Given the description of an element on the screen output the (x, y) to click on. 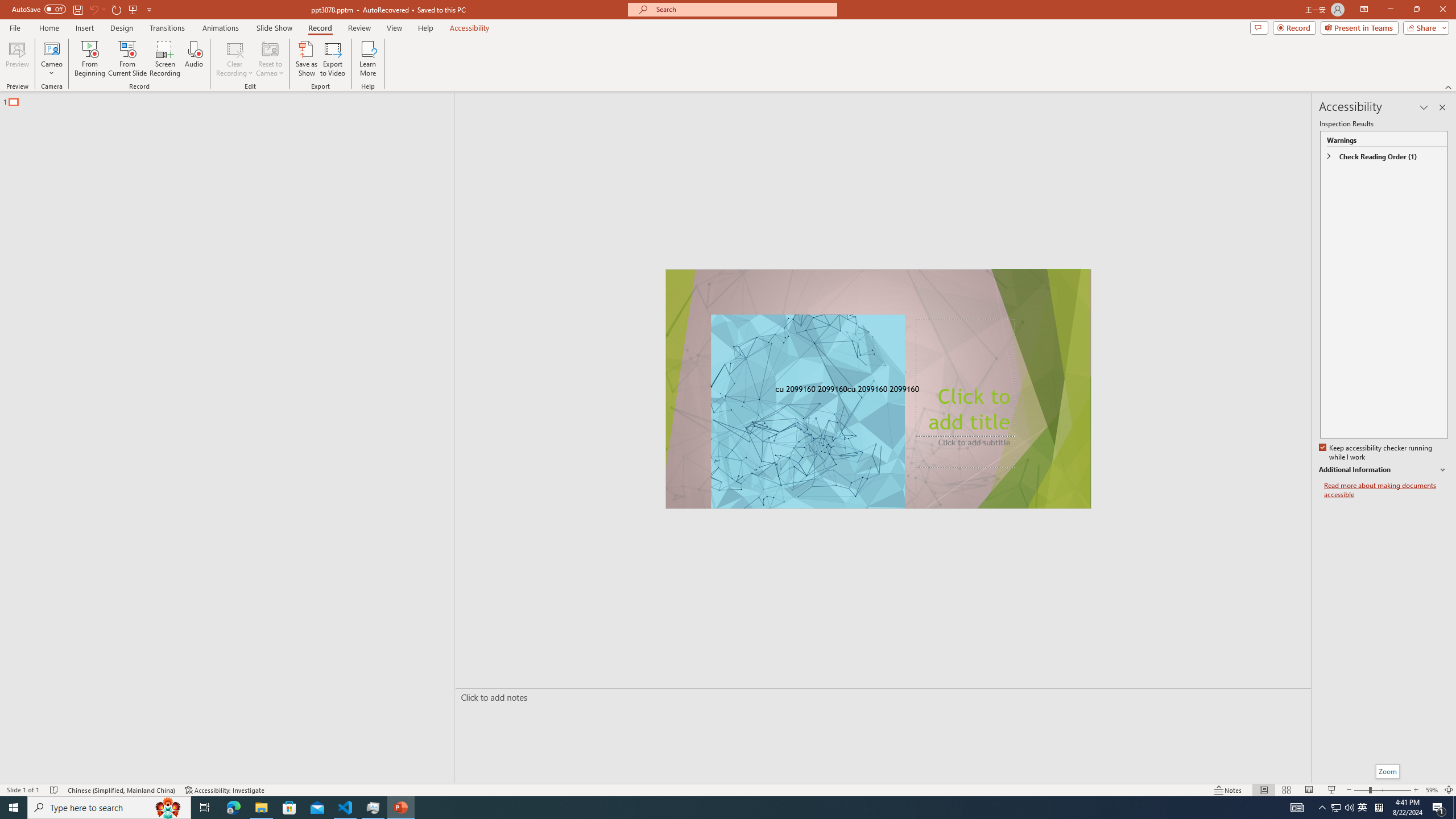
(CVPR24)Matching Anything by Segmenting Anything.pdf (1275, 184)
Symbol-llm-v2.pdf (1275, 102)
2406.12373v2.pdf (1340, 254)
test.py (163, 632)
Poe (842, 800)
2312.03032v2.pdf (1275, 254)
2401.17399v1.pdf (1340, 26)
Blender 4.1 (163, 178)
